Given the description of an element on the screen output the (x, y) to click on. 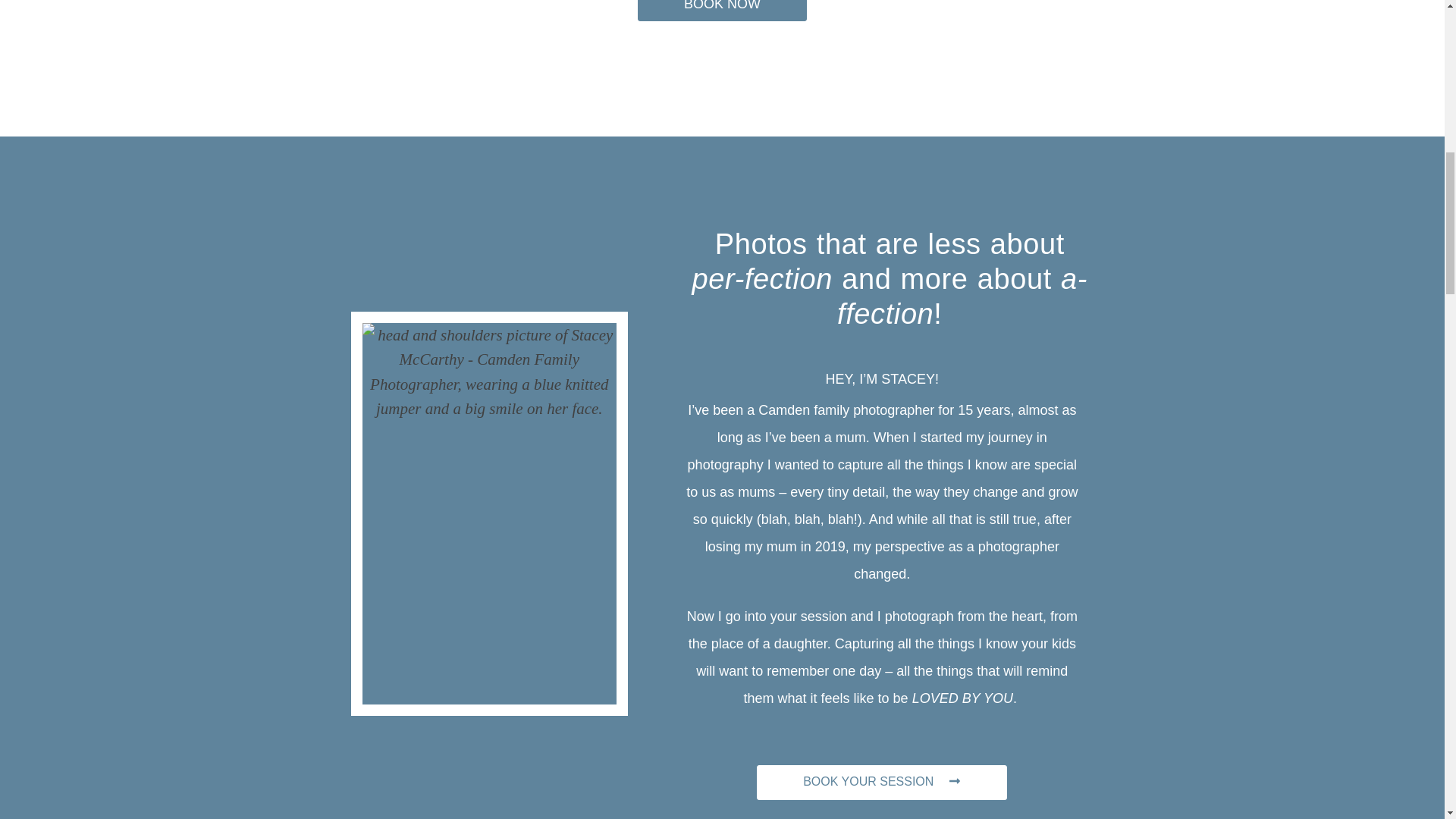
BOOK YOUR SESSION (882, 782)
BOOK NOW (721, 11)
